Given the description of an element on the screen output the (x, y) to click on. 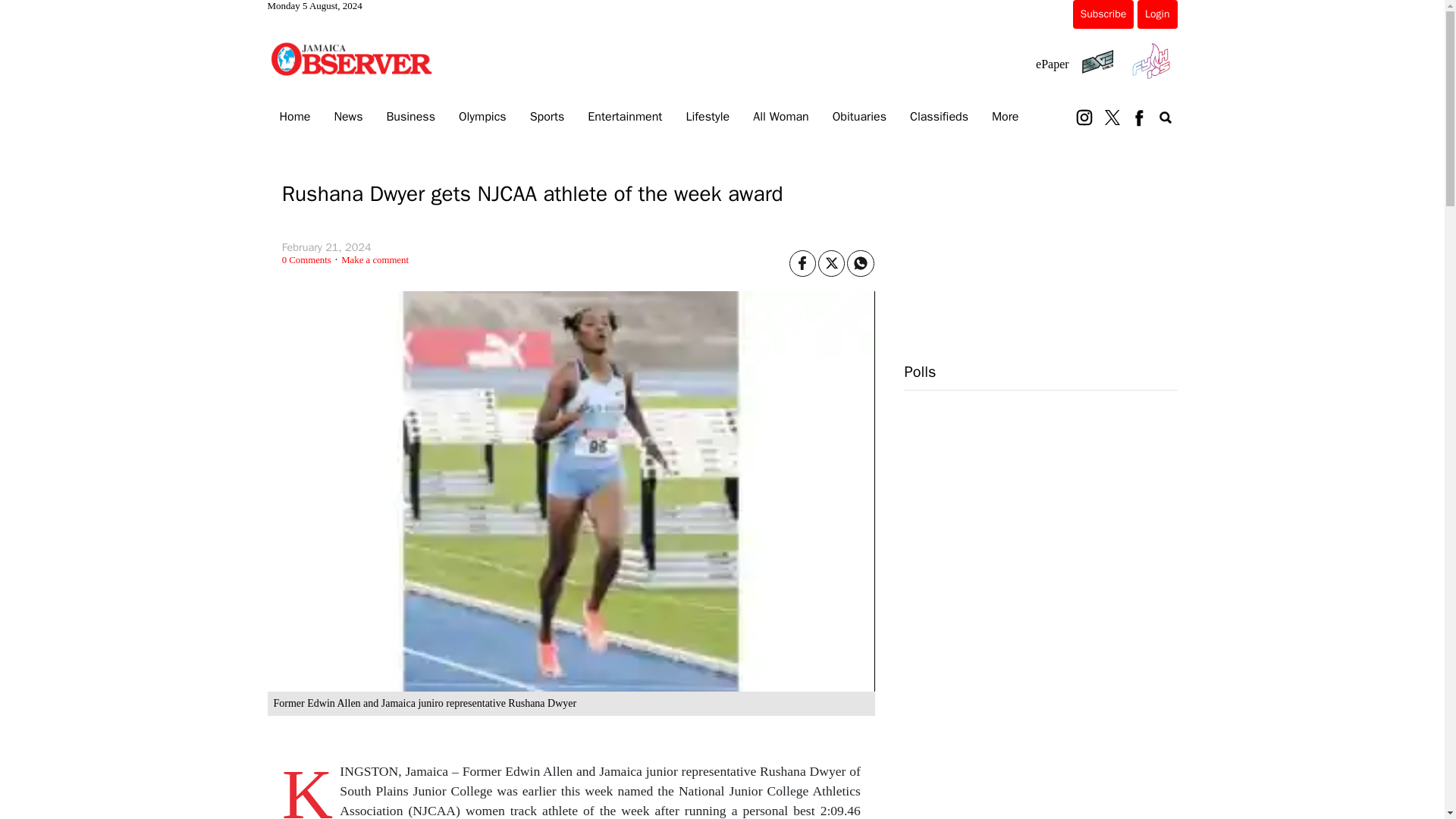
ePaper (1051, 64)
Login (1156, 14)
Subscribe (1103, 14)
